Given the description of an element on the screen output the (x, y) to click on. 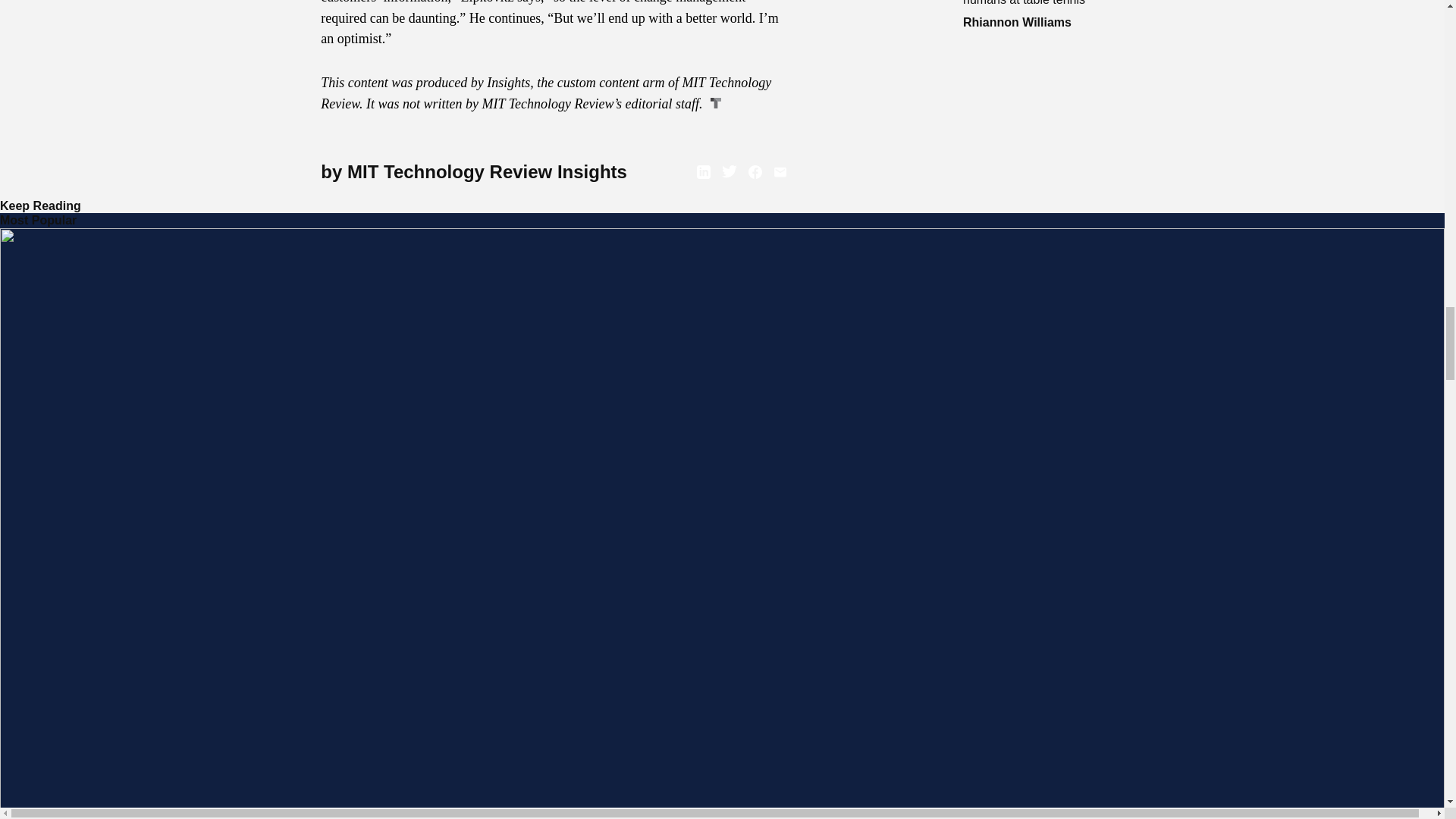
Share story on linkedin (703, 172)
Share story on facebook (754, 172)
Share story on email (780, 172)
Share story on twitter (730, 172)
MIT Technology Review Insights (487, 171)
